Given the description of an element on the screen output the (x, y) to click on. 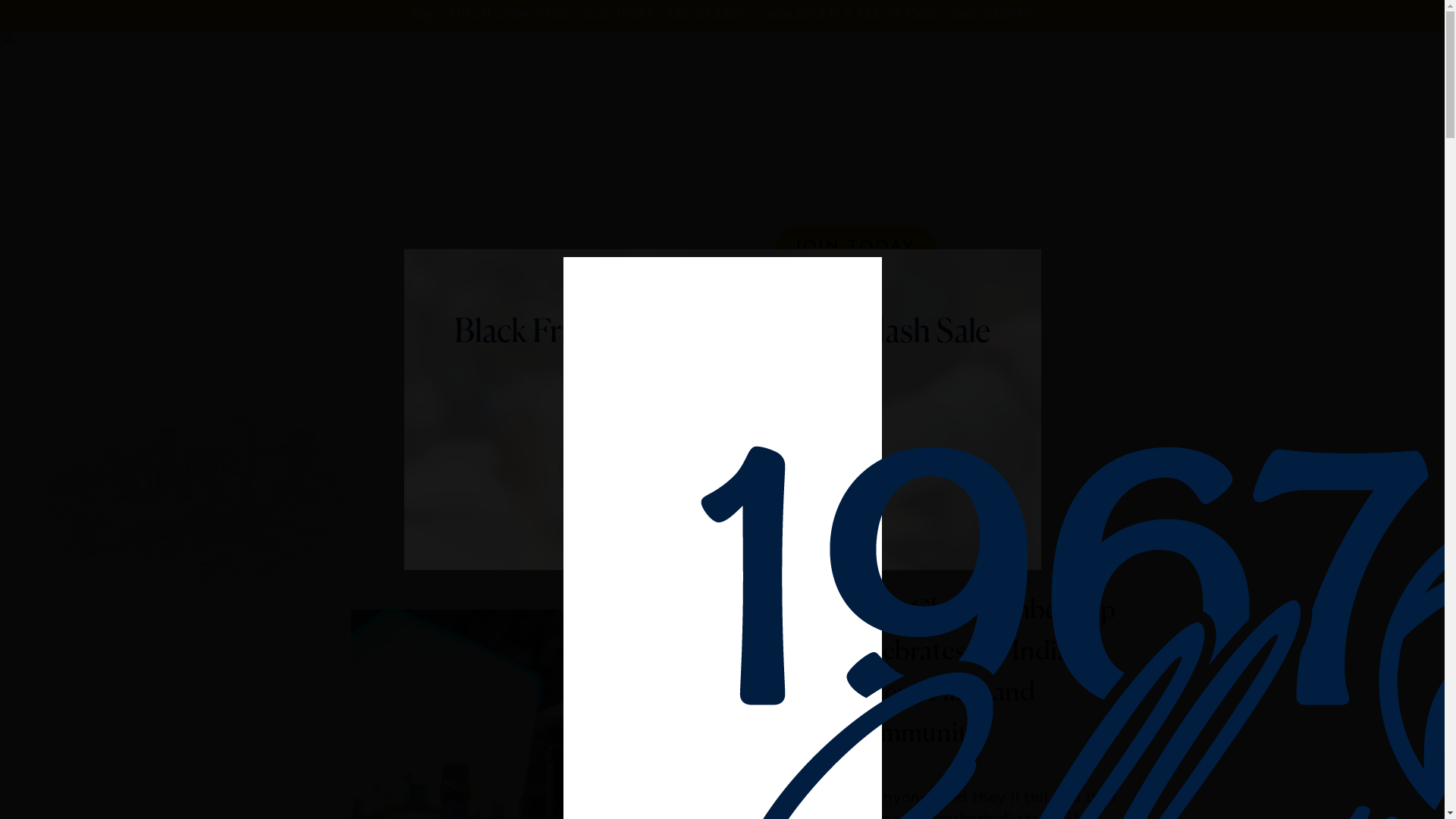
Corporate Gifting Element type: text (1040, 68)
Shop Element type: text (830, 68)
JOIN TODAY Element type: text (855, 246)
About Us Element type: text (614, 68)
SHOP NOW Element type: text (722, 455)
Tastings Element type: text (892, 68)
Join Element type: text (675, 68)
Info Element type: text (951, 68)
New Releases Element type: text (750, 68)
